Given the description of an element on the screen output the (x, y) to click on. 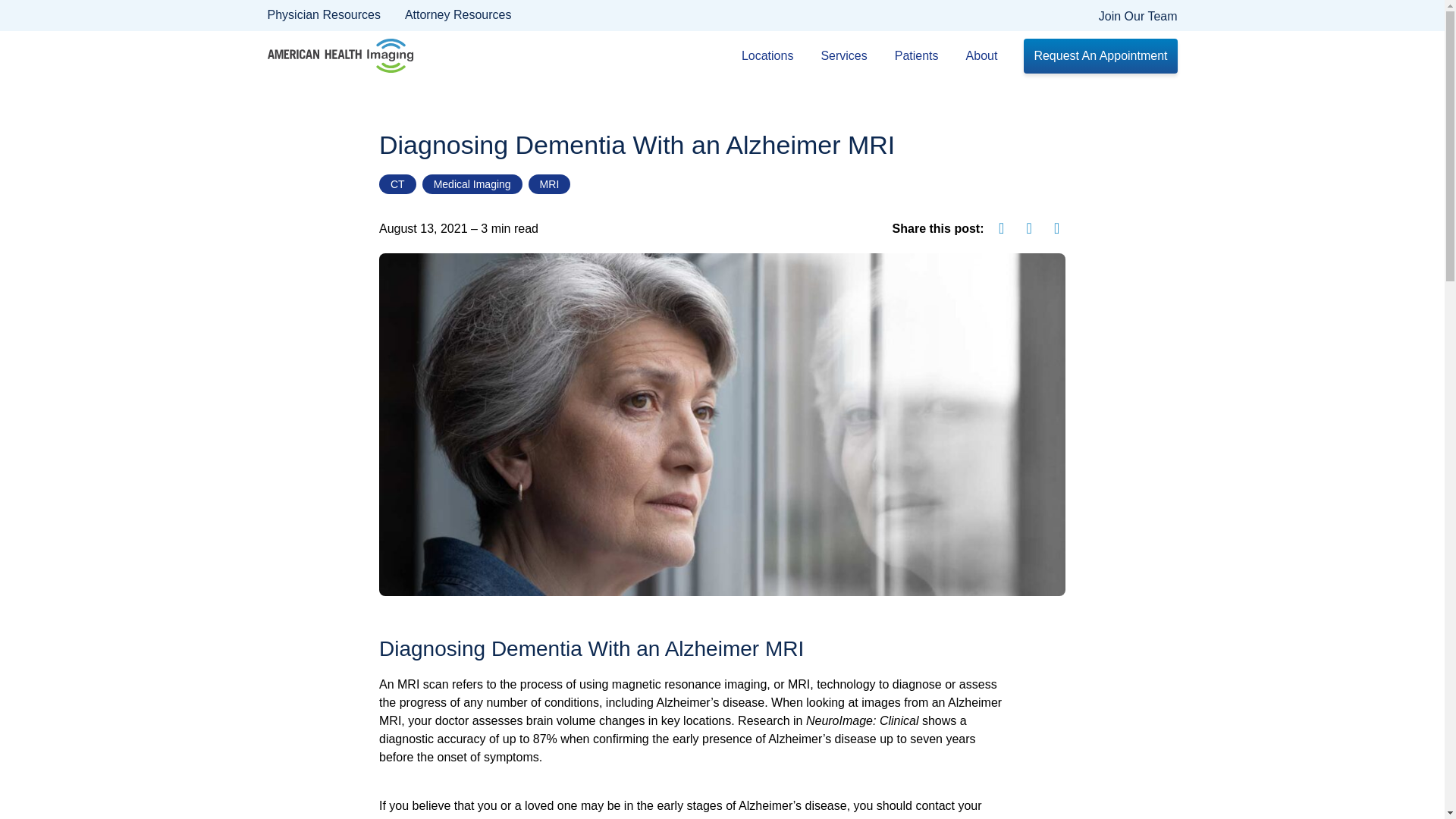
Physician Resources (323, 15)
Join Our Team (1138, 17)
About (985, 55)
Patients (920, 55)
Attorney Resources (458, 15)
Locations (771, 55)
Request An Appointment (1099, 55)
Services (846, 55)
